Given the description of an element on the screen output the (x, y) to click on. 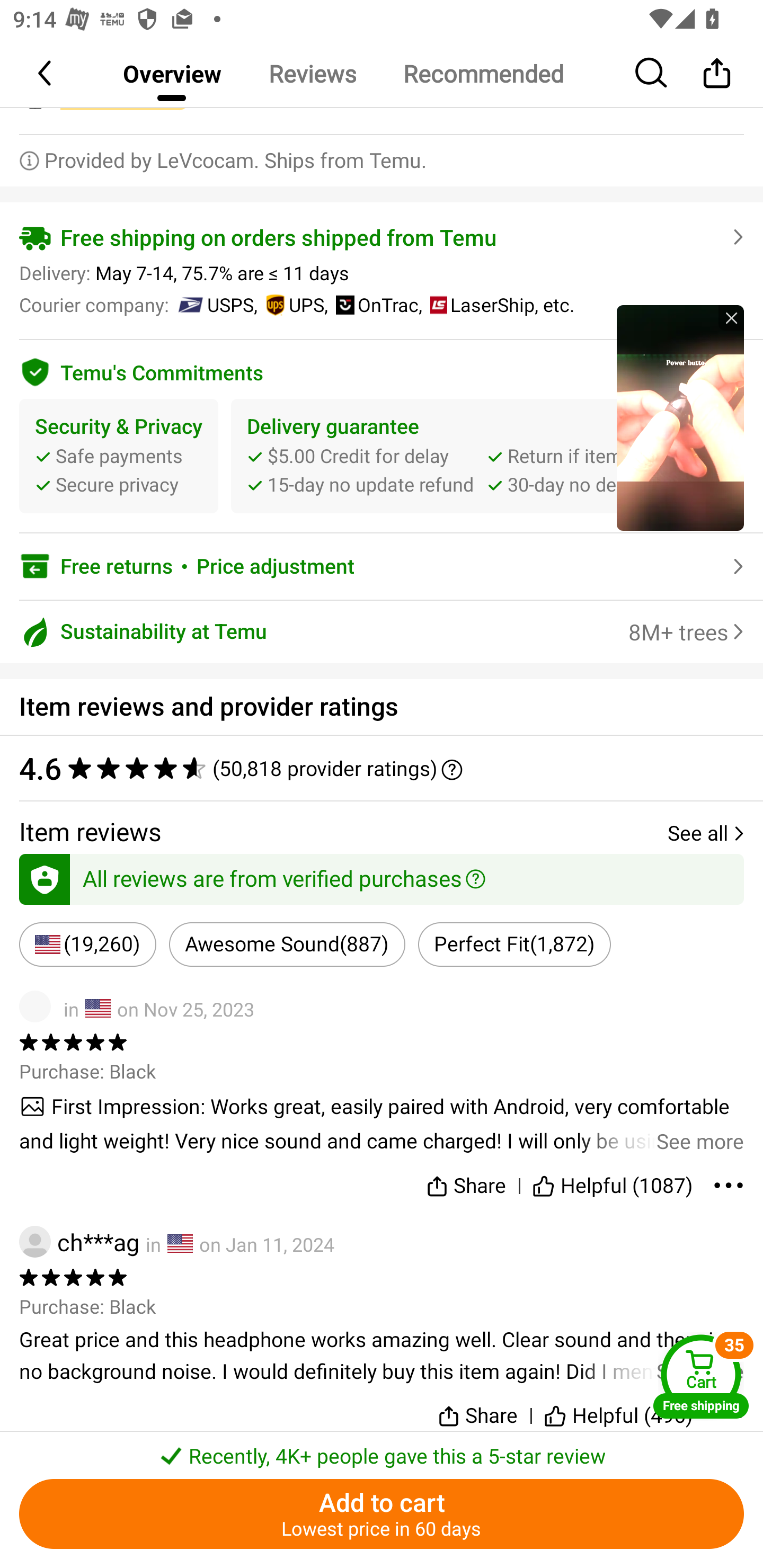
Overview (171, 72)
Reviews (311, 72)
Recommended (482, 72)
Back (46, 72)
Share (716, 72)
tronplayer_view (680, 417)
Temu's Commitments (381, 369)
Security & Privacy Safe payments Secure privacy (118, 455)
Free returns￼Price adjustment (381, 565)
Sustainability at Temu 8M+ trees (381, 631)
4.6 ‪(50,818 provider ratings) (371, 767)
All reviews are from verified purchases  (381, 876)
(19,260) (87, 944)
Awesome Sound(887) (287, 944)
Perfect Fit(1,872) (514, 944)
See more (381, 1123)
  Share (465, 1182)
  Helpful (1087) (612, 1182)
ch***ag (79, 1241)
See more (381, 1356)
Cart Free shipping Cart (701, 1375)
  Share (477, 1411)
  Helpful (496) (618, 1411)
￼￼Recently, 4K+ people gave this a 5-star review (381, 1450)
Add to cart Lowest price in 60 days (381, 1513)
